Given the description of an element on the screen output the (x, y) to click on. 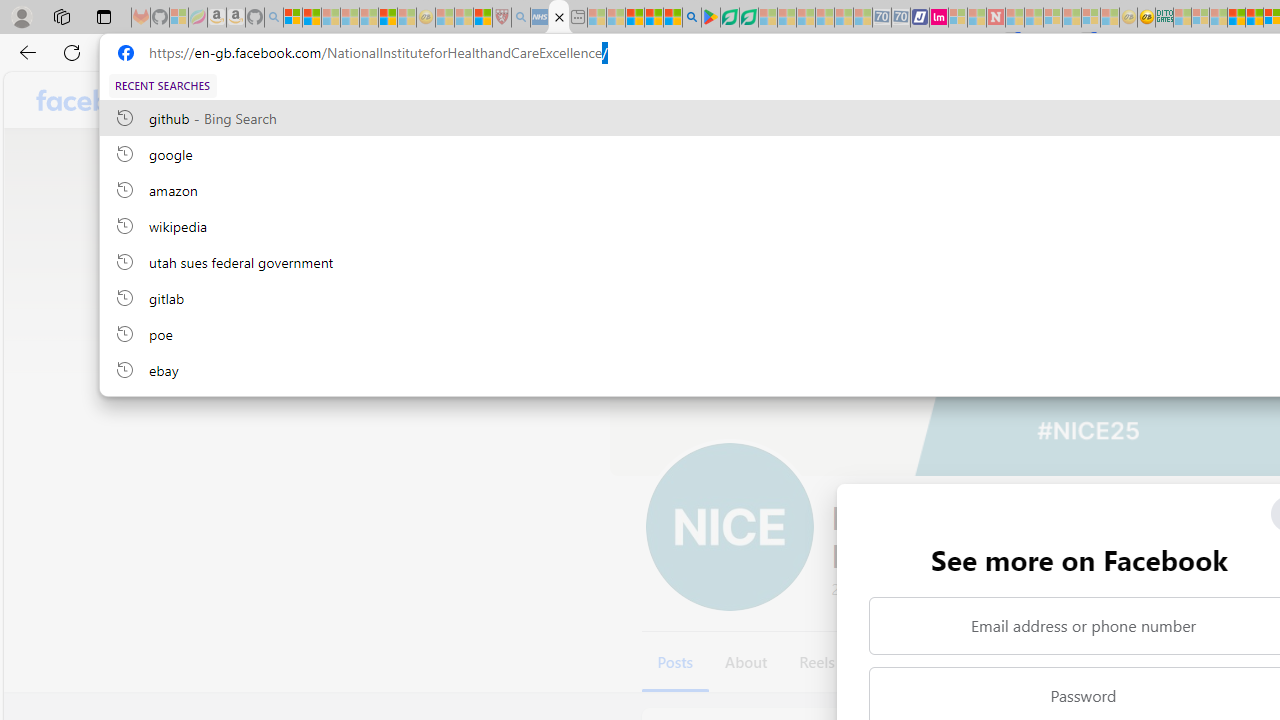
New tab - Sleeping (578, 17)
Facebook (97, 99)
Expert Portfolios (1236, 17)
Local - MSN (482, 17)
Facebook (97, 99)
google - Search (692, 17)
Robert H. Shmerling, MD - Harvard Health - Sleeping (501, 17)
Cheap Car Rentals - Save70.com - Sleeping (881, 17)
Microsoft Word - consumer-privacy address update 2.2021 (748, 17)
